Given the description of an element on the screen output the (x, y) to click on. 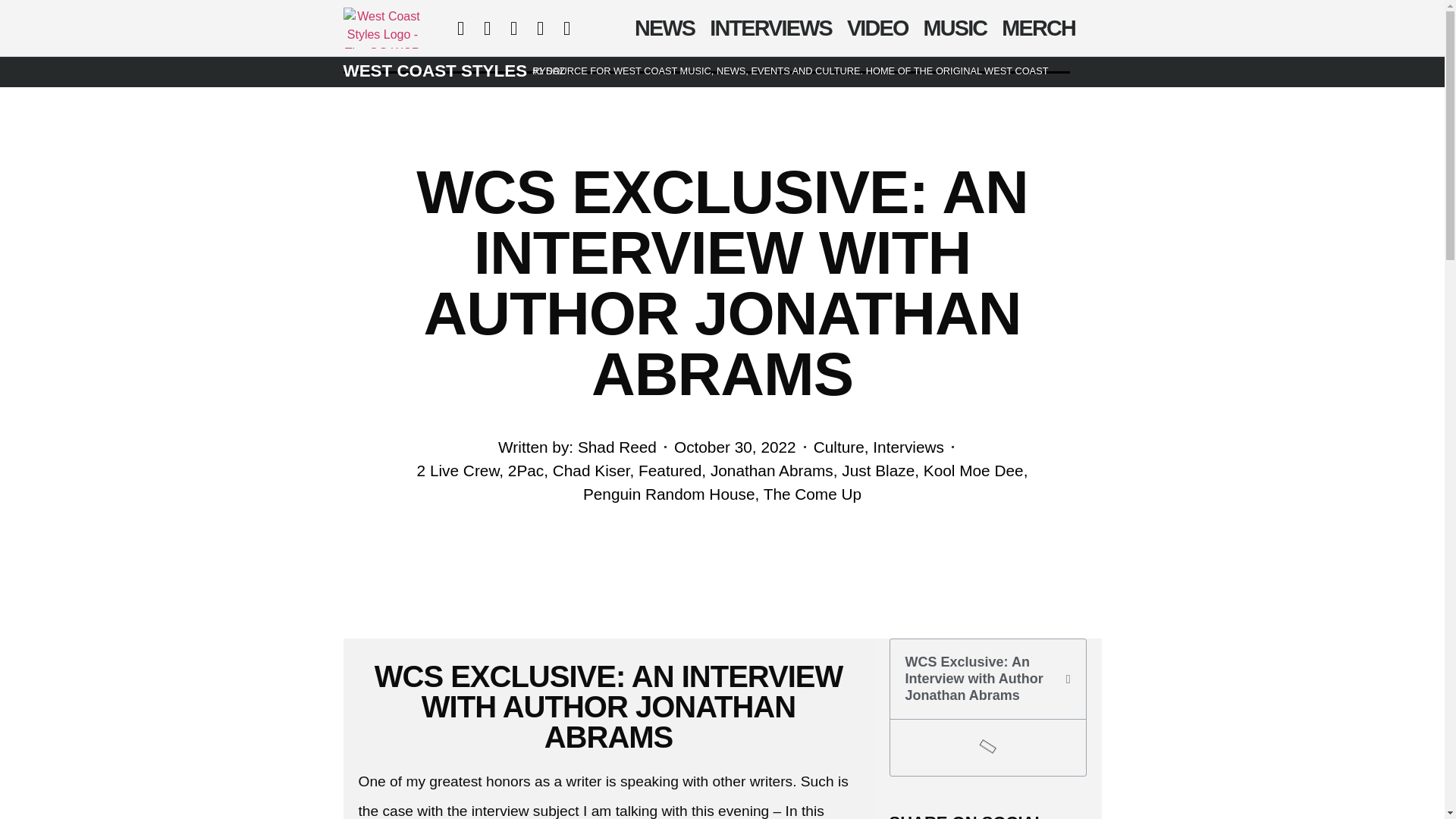
Jonathan Abrams (771, 470)
Culture (838, 446)
2 Live Crew (457, 470)
Penguin Random House (669, 493)
Written by: Shad Reed (576, 446)
WCS EXCLUSIVE: AN INTERVIEW WITH AUTHOR JONATHAN ABRAMS (608, 706)
MUSIC (954, 28)
Interviews (907, 446)
MERCH (1038, 28)
October 30, 2022 (735, 446)
2Pac (525, 470)
Kool Moe Dee (973, 470)
Featured (670, 470)
NEWS (664, 28)
